Given the description of an element on the screen output the (x, y) to click on. 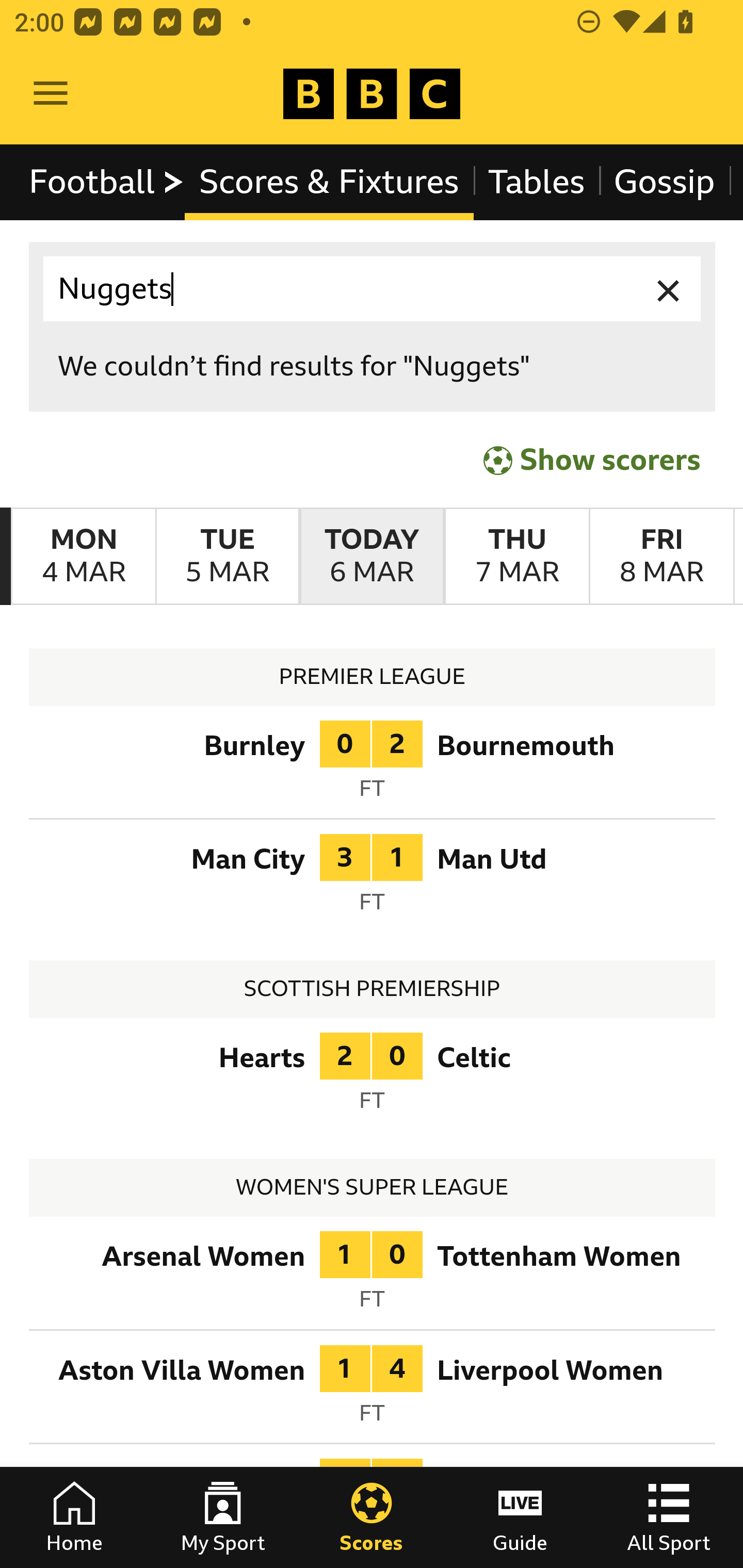
Open Menu (50, 93)
Football  (106, 181)
Scores & Fixtures (329, 181)
Tables (536, 181)
Gossip (664, 181)
Nuggets (372, 289)
Clear input (669, 289)
Show scorers (591, 459)
MondayMarch 4th Monday March 4th (83, 557)
TuesdayMarch 5th Tuesday March 5th (227, 557)
TodayMarch 6th Today March 6th (371, 557)
ThursdayMarch 7th Thursday March 7th (516, 557)
FridayMarch 8th Friday March 8th (661, 557)
68395538 Burnley 0 AFC Bournemouth 2 Full Time (372, 765)
68395495 Heart of Midlothian 2 Celtic 0 Full Time (372, 1077)
Home (74, 1517)
My Sport (222, 1517)
Guide (519, 1517)
All Sport (668, 1517)
